Given the description of an element on the screen output the (x, y) to click on. 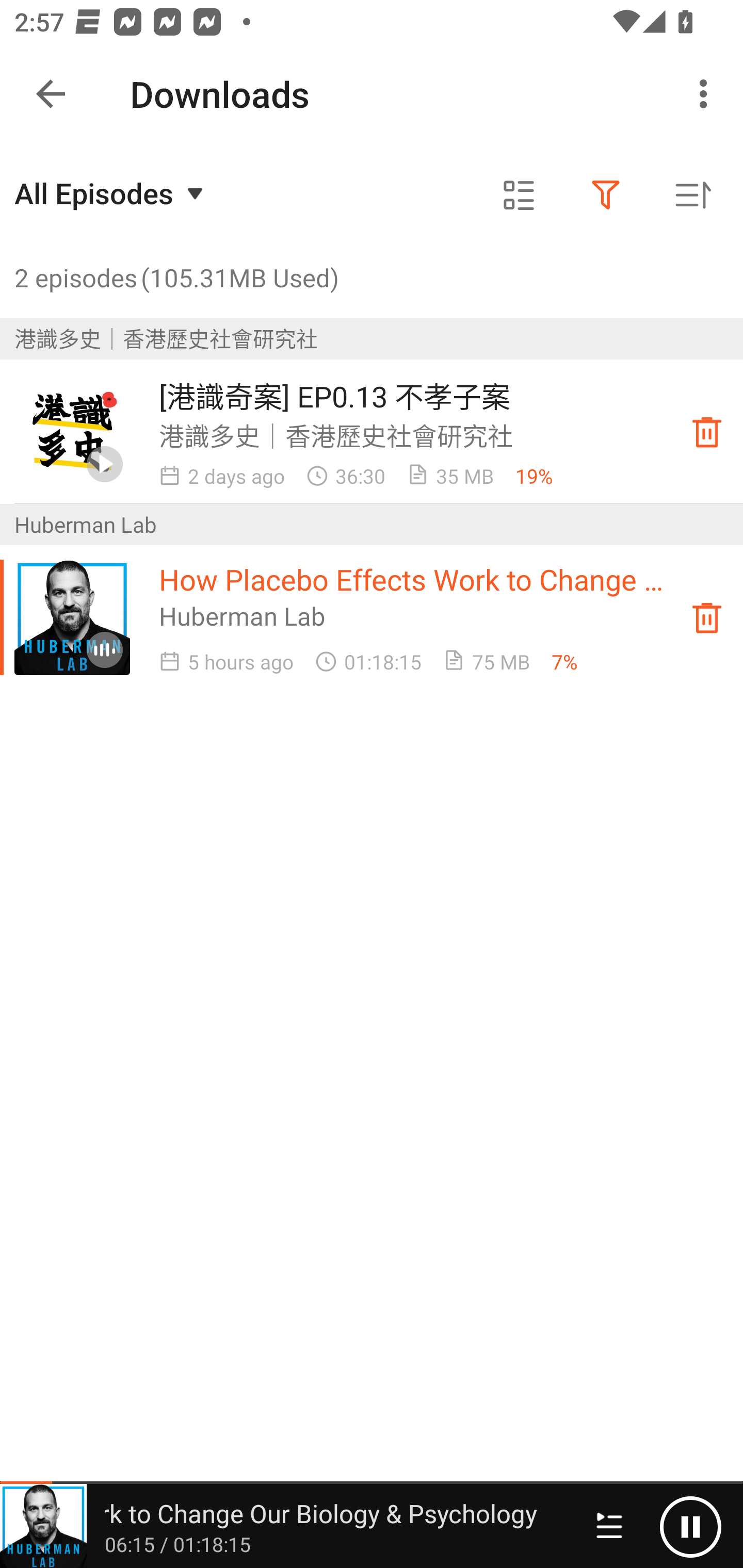
5.0 Downloading 1 episode VIEW (371, 88)
Navigate up (50, 93)
More options (706, 93)
All Episodes (111, 192)
 (518, 195)
 (605, 195)
 Sorted by oldest first (692, 195)
Downloaded (706, 431)
Downloaded (706, 617)
Pause (690, 1526)
